Given the description of an element on the screen output the (x, y) to click on. 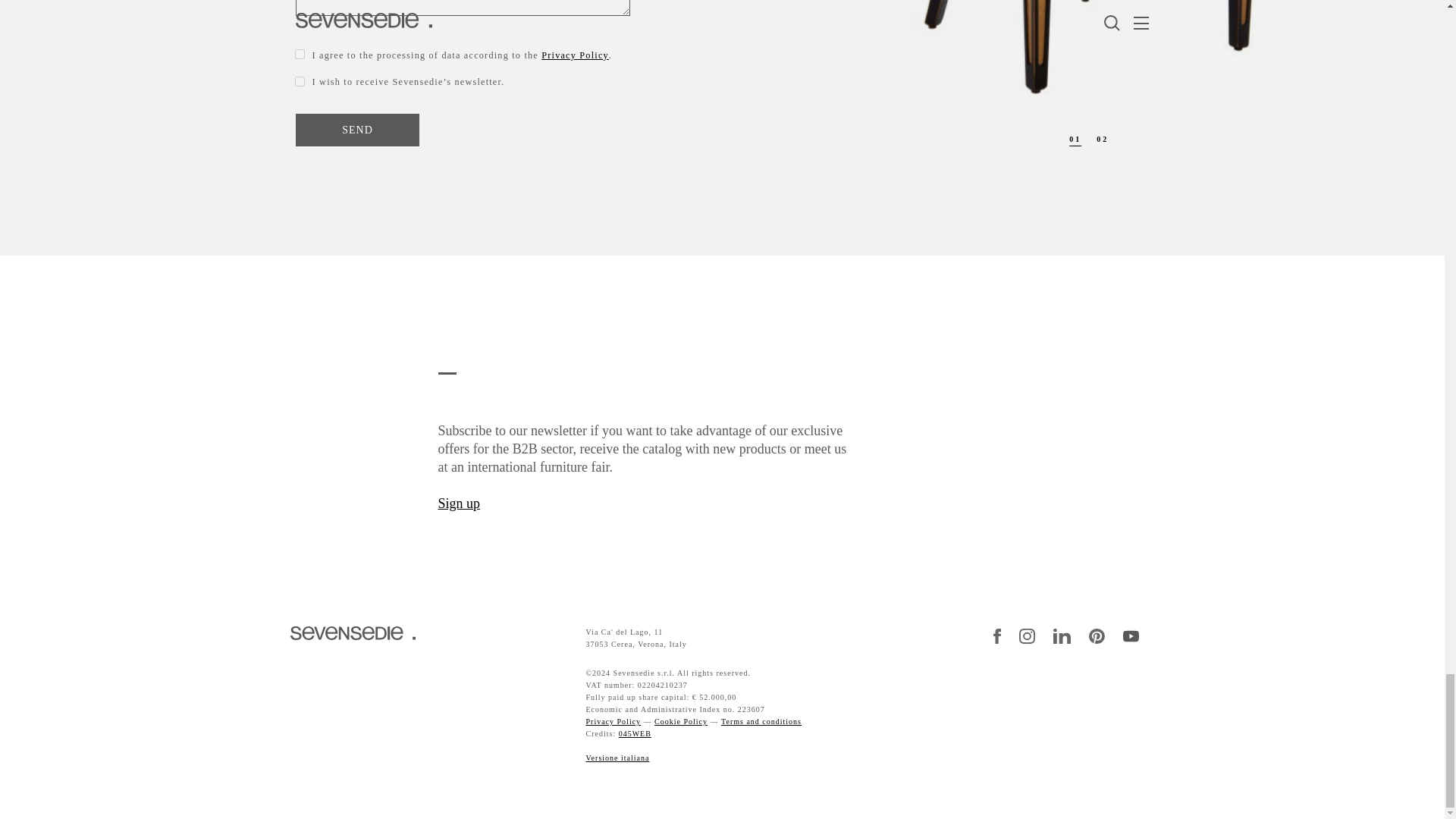
Privacy Policy (680, 721)
1 (299, 53)
on (299, 81)
Privacy Policy (574, 54)
Privacy Policy (612, 721)
